Given the description of an element on the screen output the (x, y) to click on. 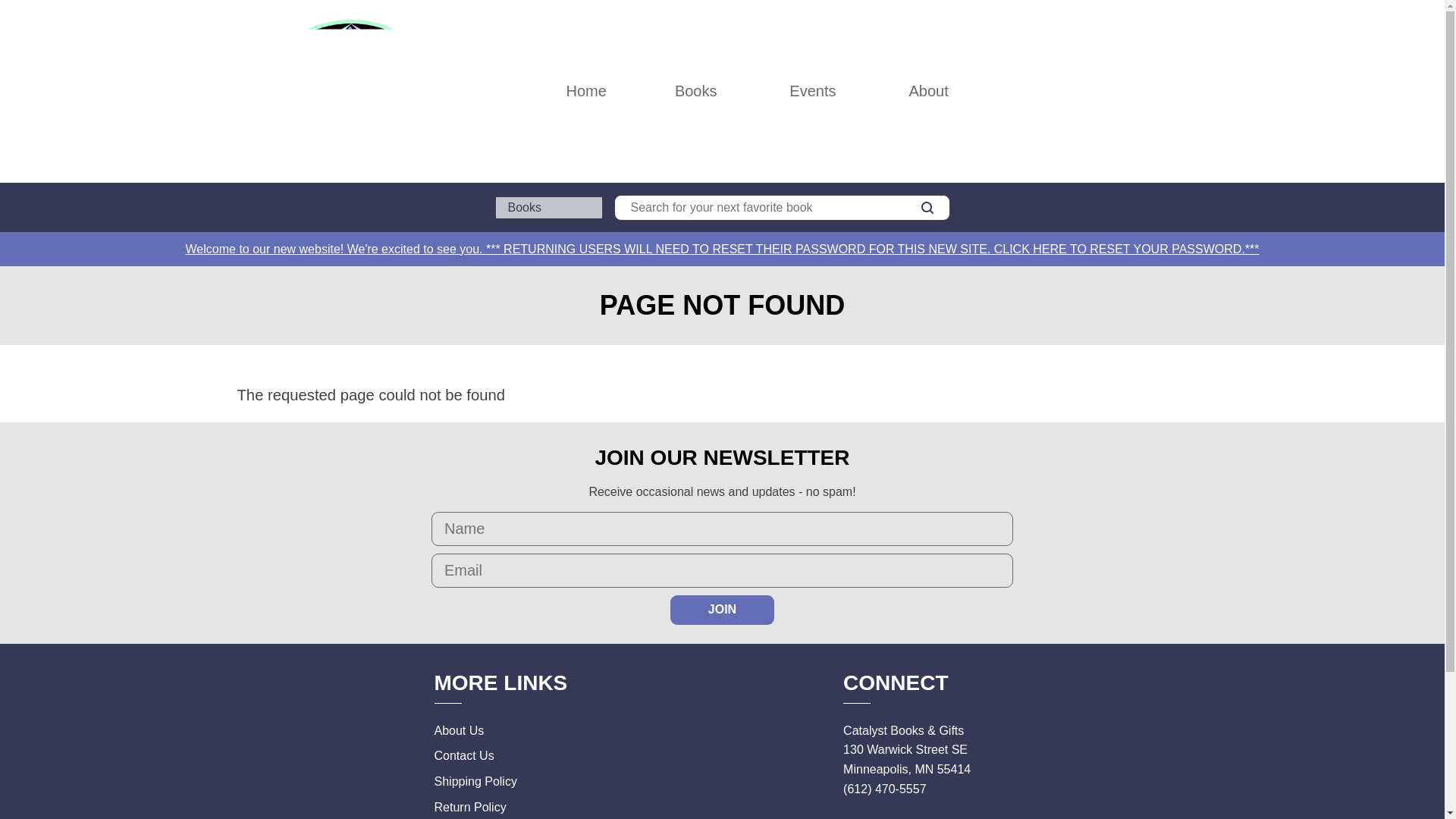
About Us (458, 730)
Books (696, 90)
Contact Us (463, 755)
Log in (1134, 90)
Join (721, 609)
Return Policy (469, 807)
Join (721, 609)
Events (812, 90)
Cart (1201, 90)
Log in (1134, 90)
